Given the description of an element on the screen output the (x, y) to click on. 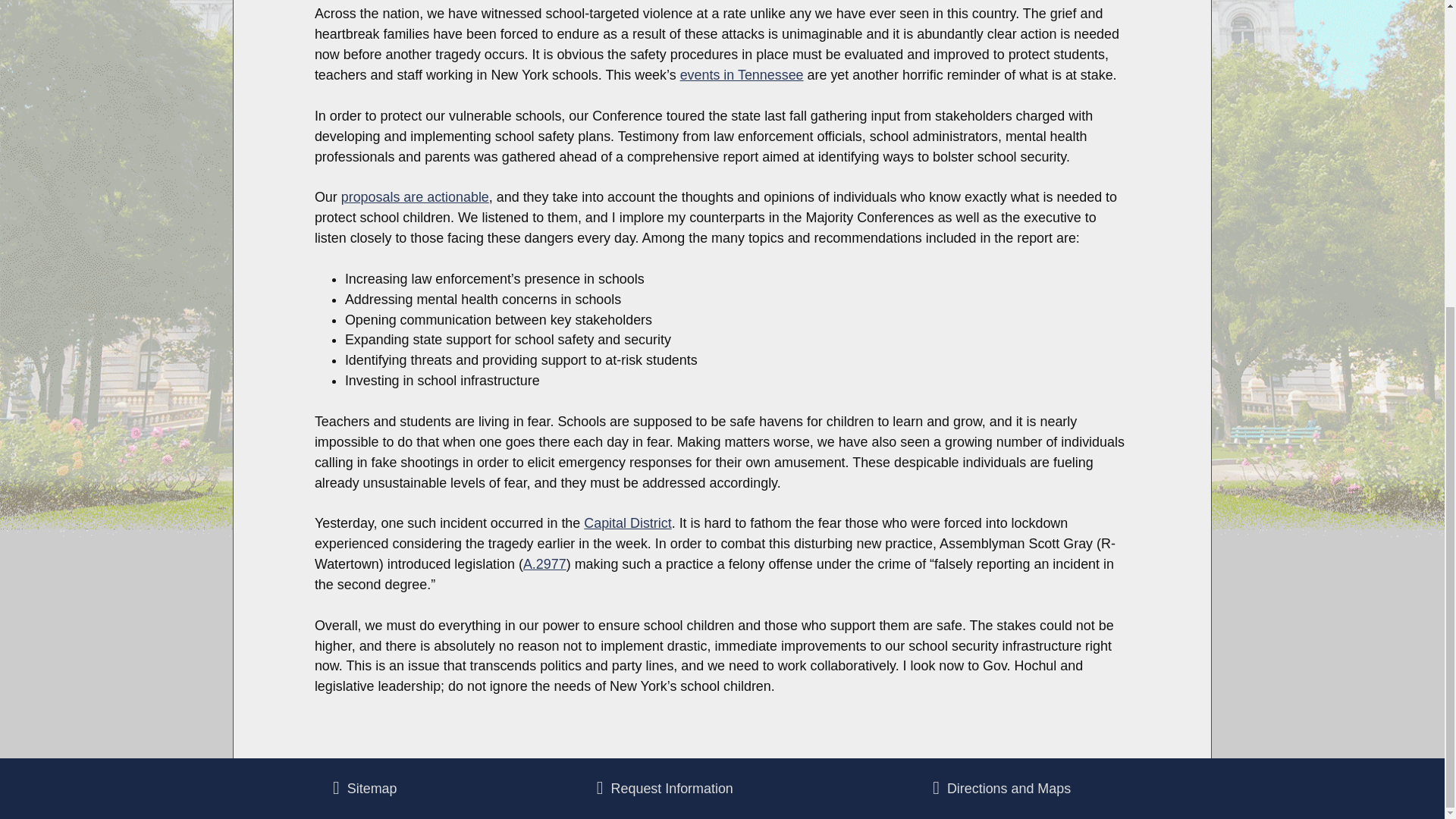
A.2977 (544, 563)
events in Tennessee (741, 74)
proposals are actionable (414, 196)
Capital District (627, 522)
